Given the description of an element on the screen output the (x, y) to click on. 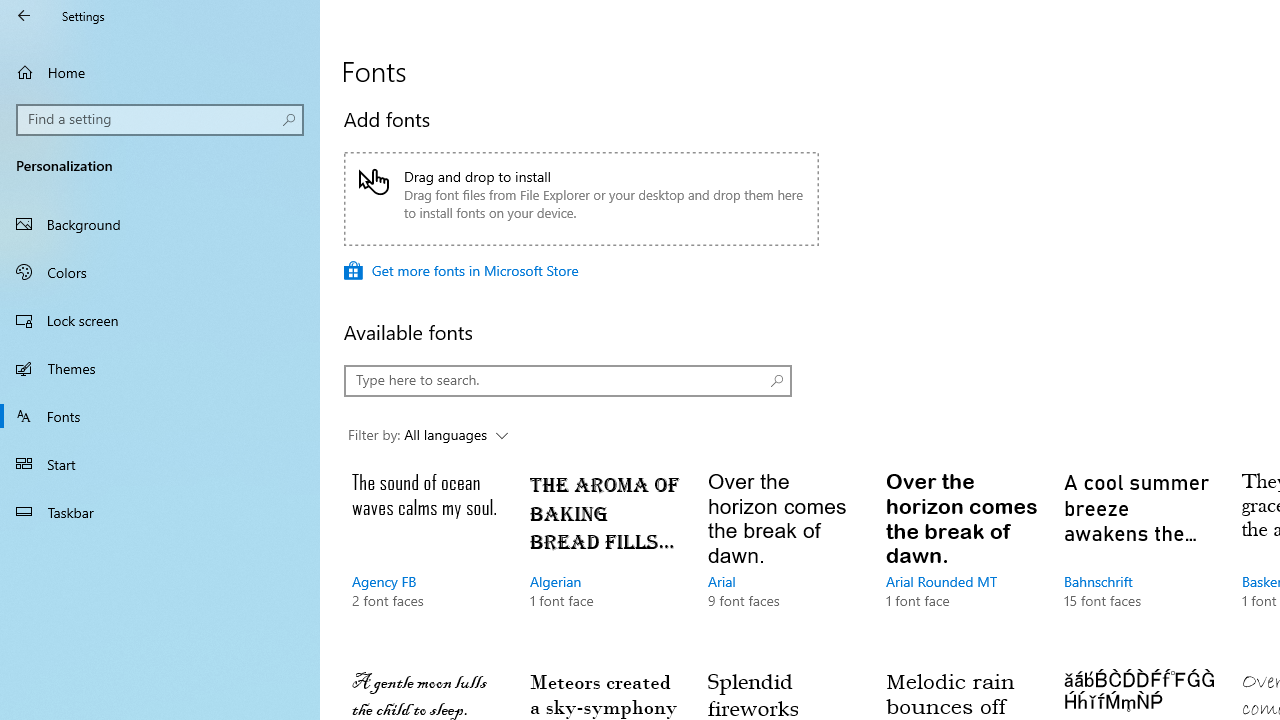
Type here to search. (568, 380)
Search box, Find a setting (160, 119)
Filter by: All languages (428, 435)
